Given the description of an element on the screen output the (x, y) to click on. 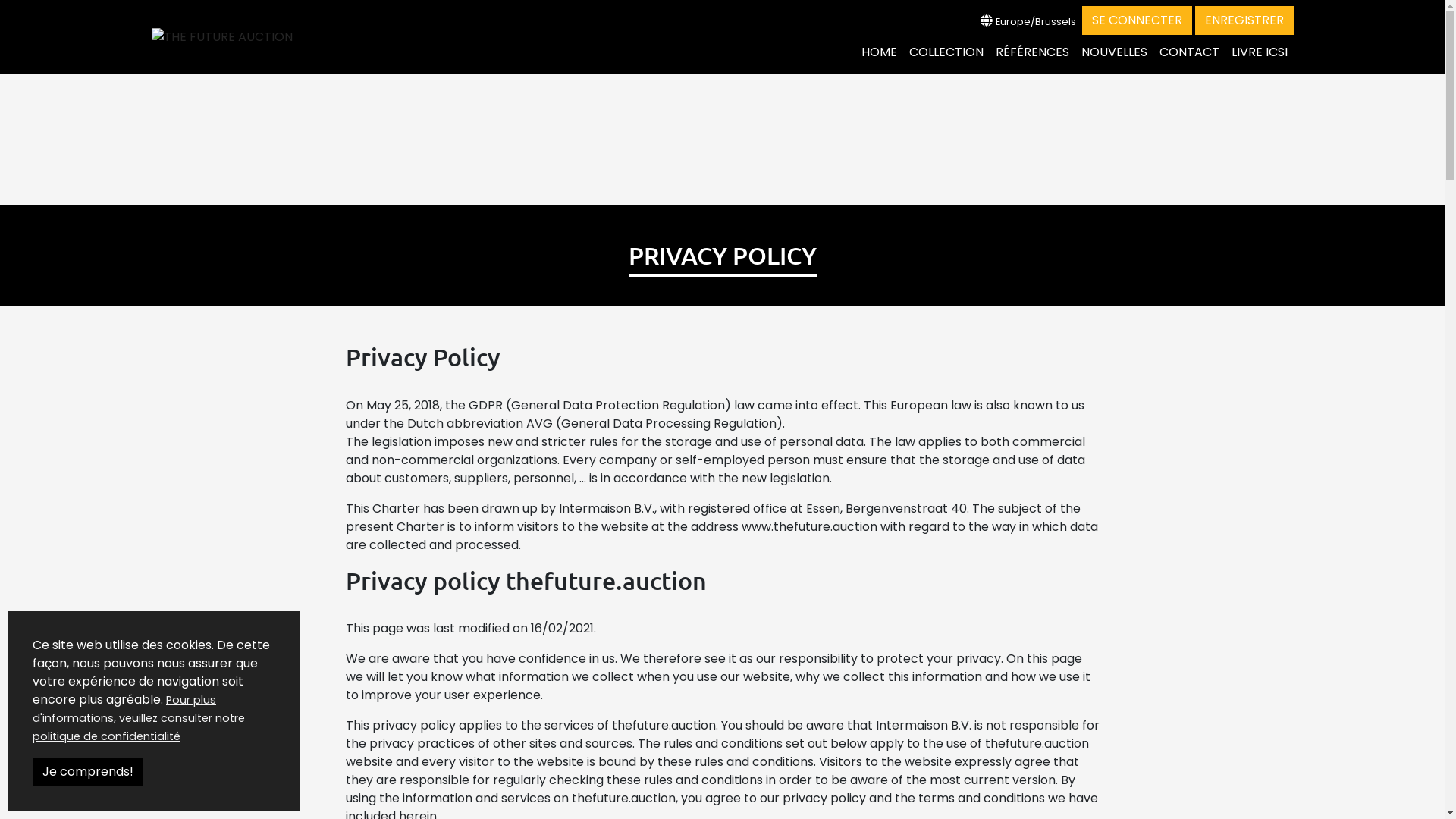
LIVRE ICSI Element type: text (1259, 52)
Je comprends! Element type: text (87, 771)
HOME Element type: text (879, 52)
SE CONNECTER Element type: text (1136, 20)
CONTACT Element type: text (1188, 52)
COLLECTION Element type: text (945, 52)
ENREGISTRER Element type: text (1244, 20)
Europe/Brussels Element type: text (1027, 21)
NOUVELLES Element type: text (1114, 52)
